Given the description of an element on the screen output the (x, y) to click on. 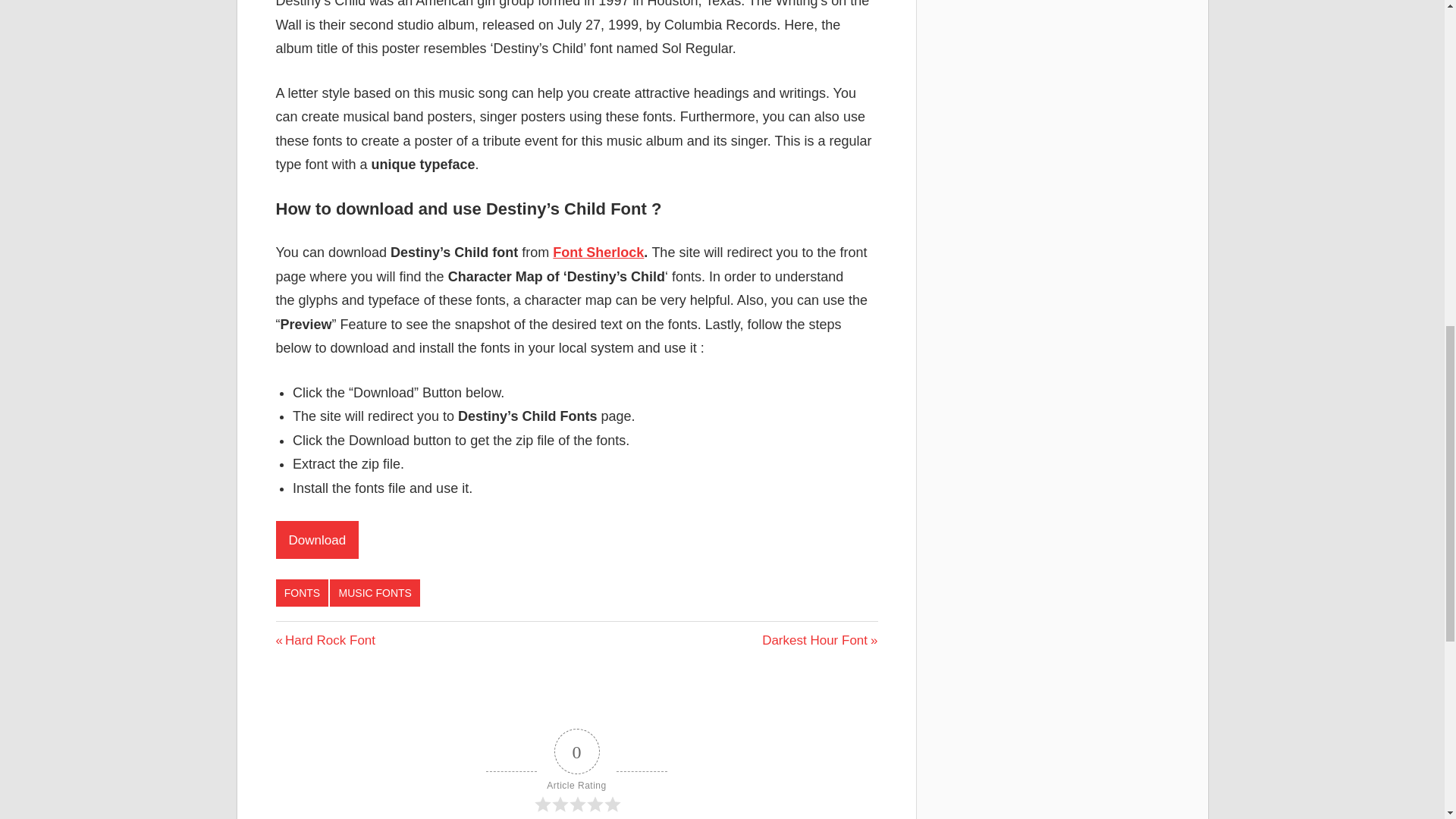
Font Sherlock (598, 252)
MUSIC FONTS (819, 640)
Download (375, 592)
FONTS (317, 539)
